Given the description of an element on the screen output the (x, y) to click on. 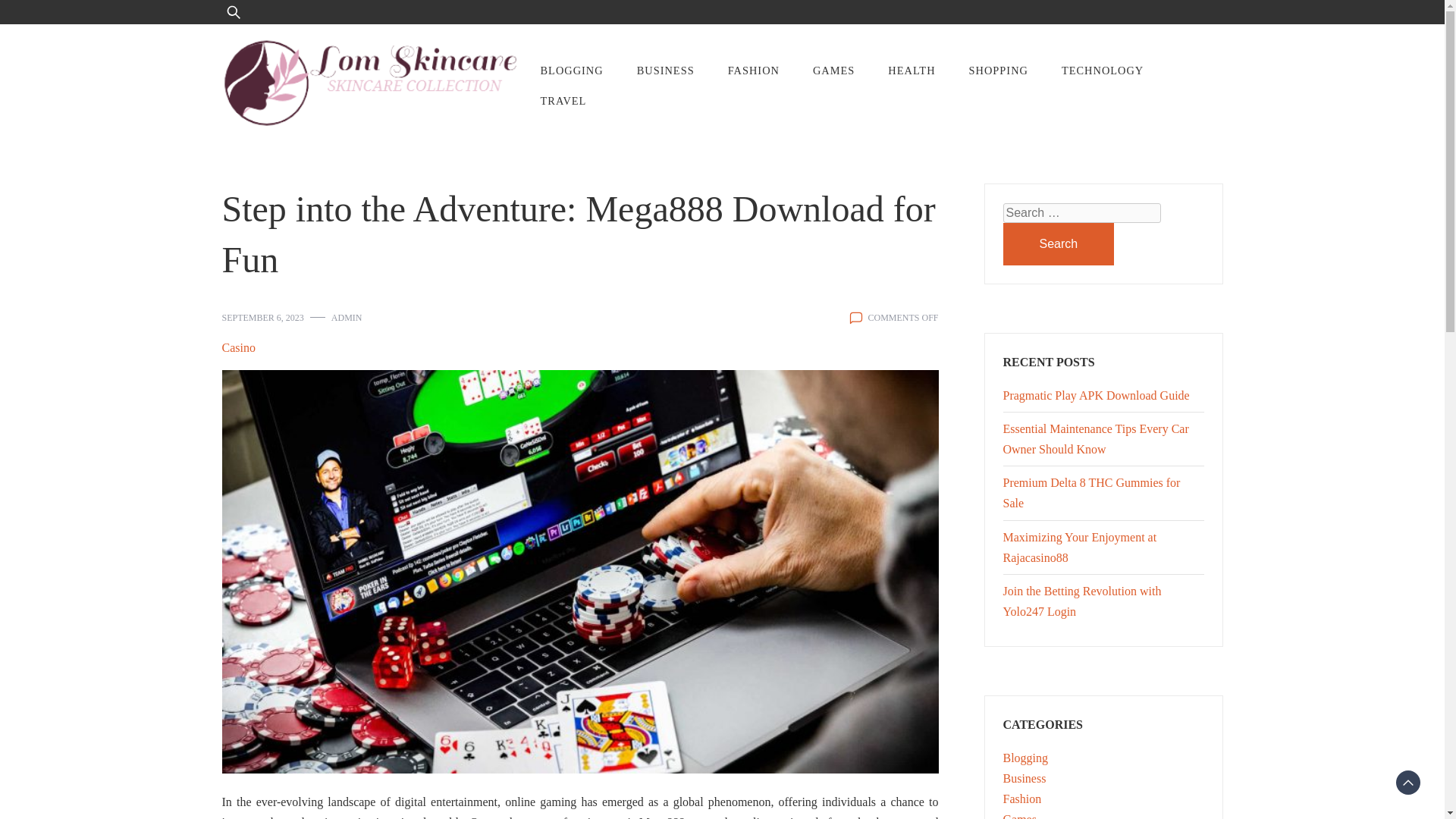
Search (56, 21)
GAMES (833, 70)
SHOPPING (998, 70)
BLOGGING (570, 70)
Search (1058, 243)
Search (1058, 243)
Pragmatic Play APK Download Guide (1096, 395)
TECHNOLOGY (1102, 70)
Casino (237, 347)
FASHION (753, 70)
SEPTEMBER 6, 2023 (261, 317)
Premium Delta 8 THC Gummies for Sale (1091, 492)
Maximizing Your Enjoyment at Rajacasino88 (1079, 547)
BUSINESS (665, 70)
TRAVEL (562, 100)
